Given the description of an element on the screen output the (x, y) to click on. 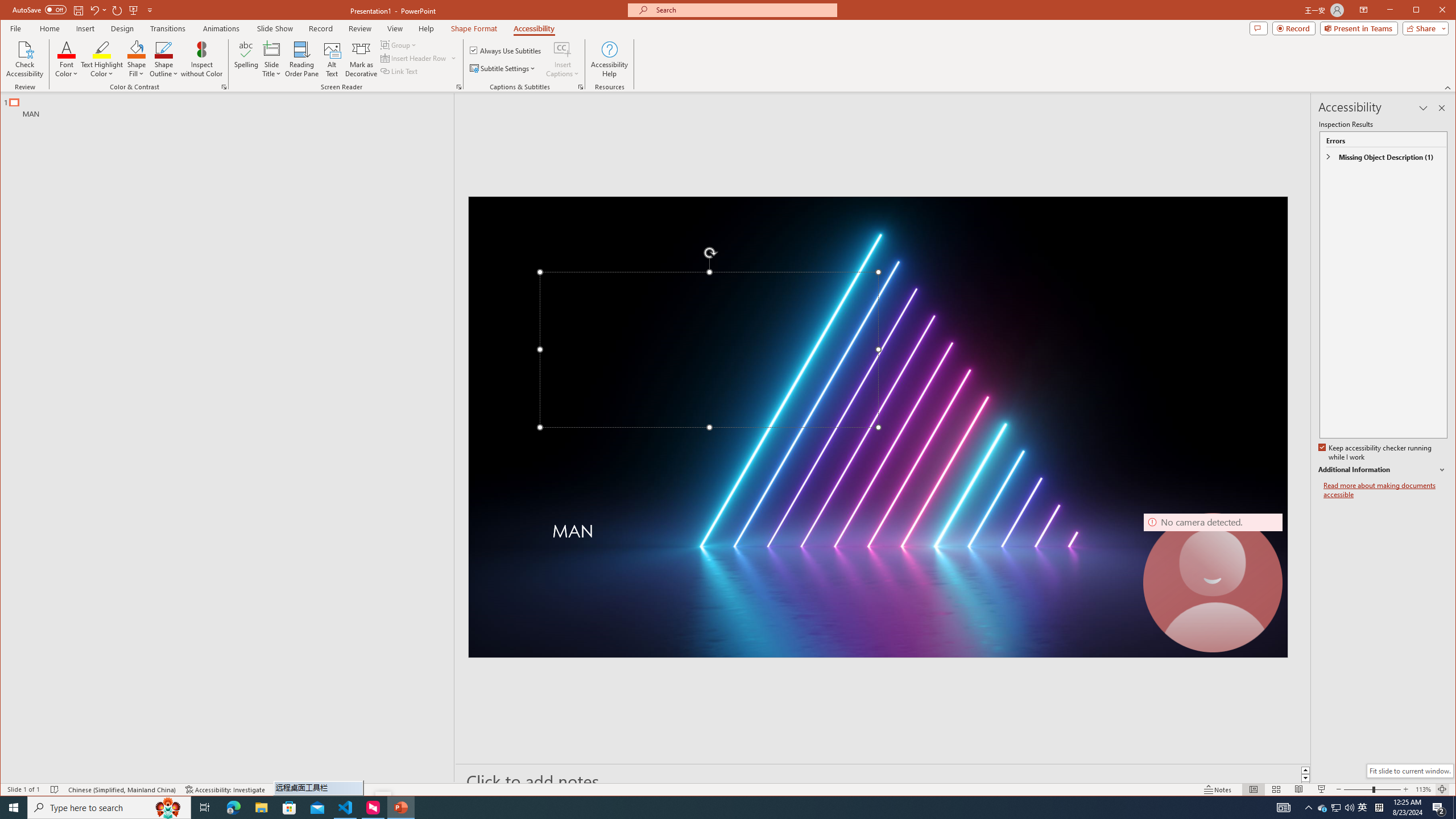
Zoom 113% (1422, 789)
Text Highlight Color No Color (102, 48)
Read more about making documents accessible (1385, 489)
